Given the description of an element on the screen output the (x, y) to click on. 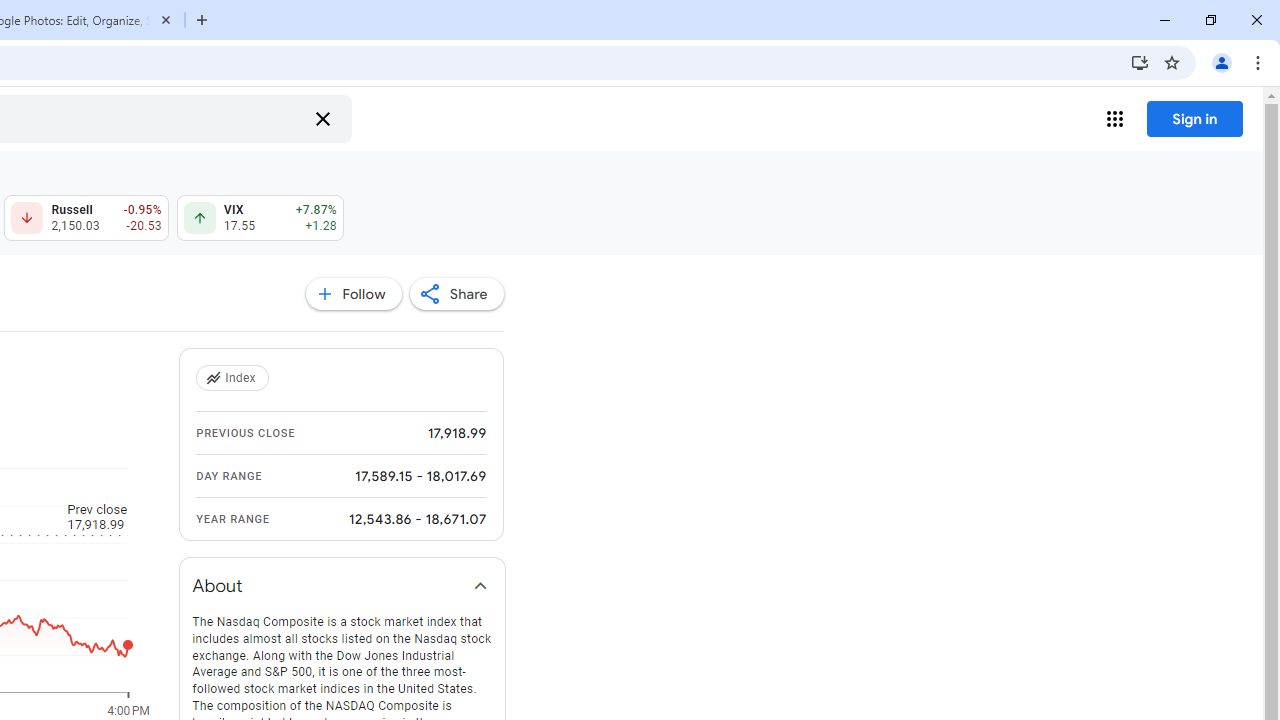
VIX 17.55 Up by 7.87% +1.28 (260, 218)
